Given the description of an element on the screen output the (x, y) to click on. 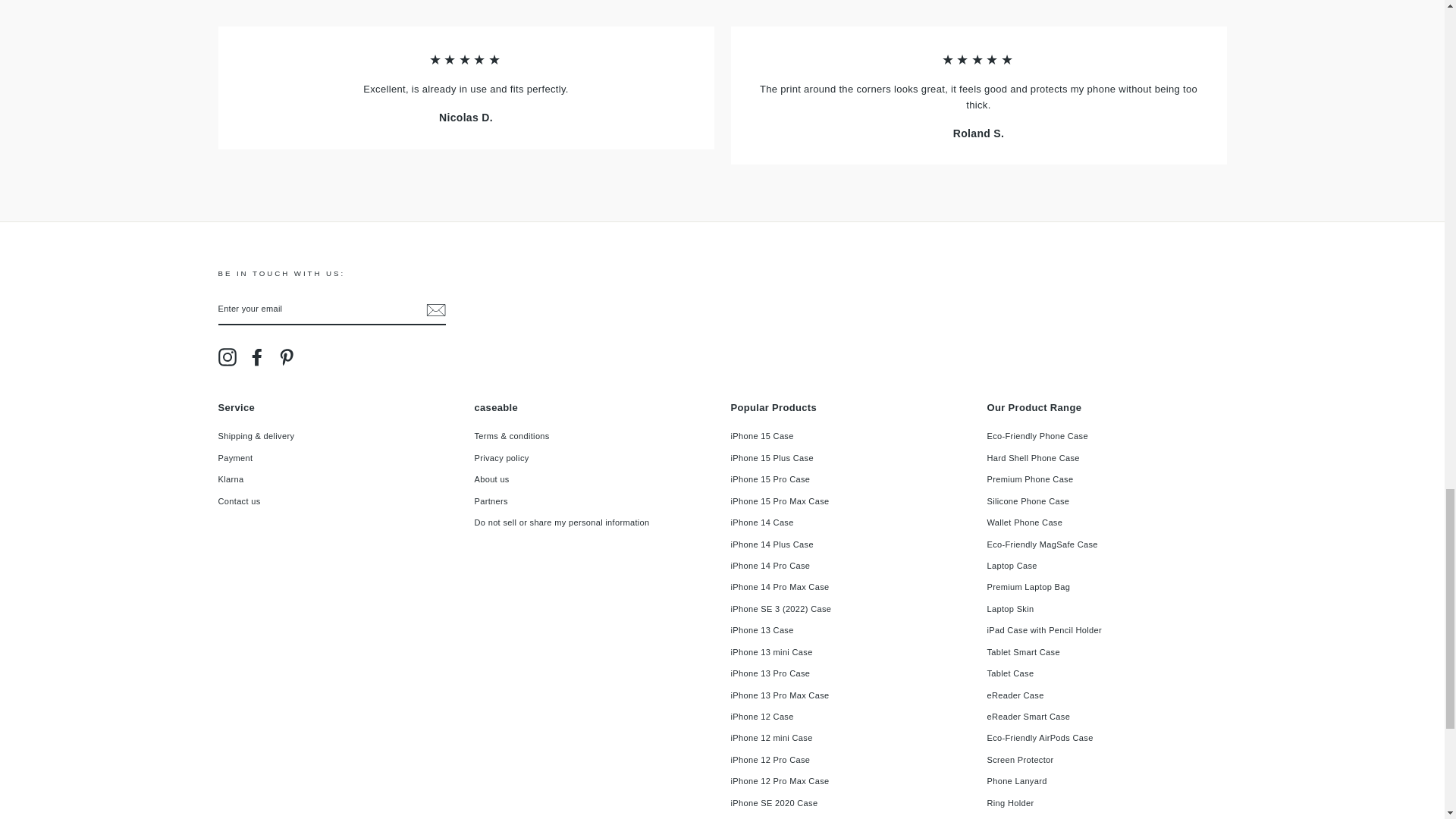
caseable US on Instagram (226, 357)
caseable US on Facebook (255, 357)
caseable US on Pinterest (286, 357)
